Given the description of an element on the screen output the (x, y) to click on. 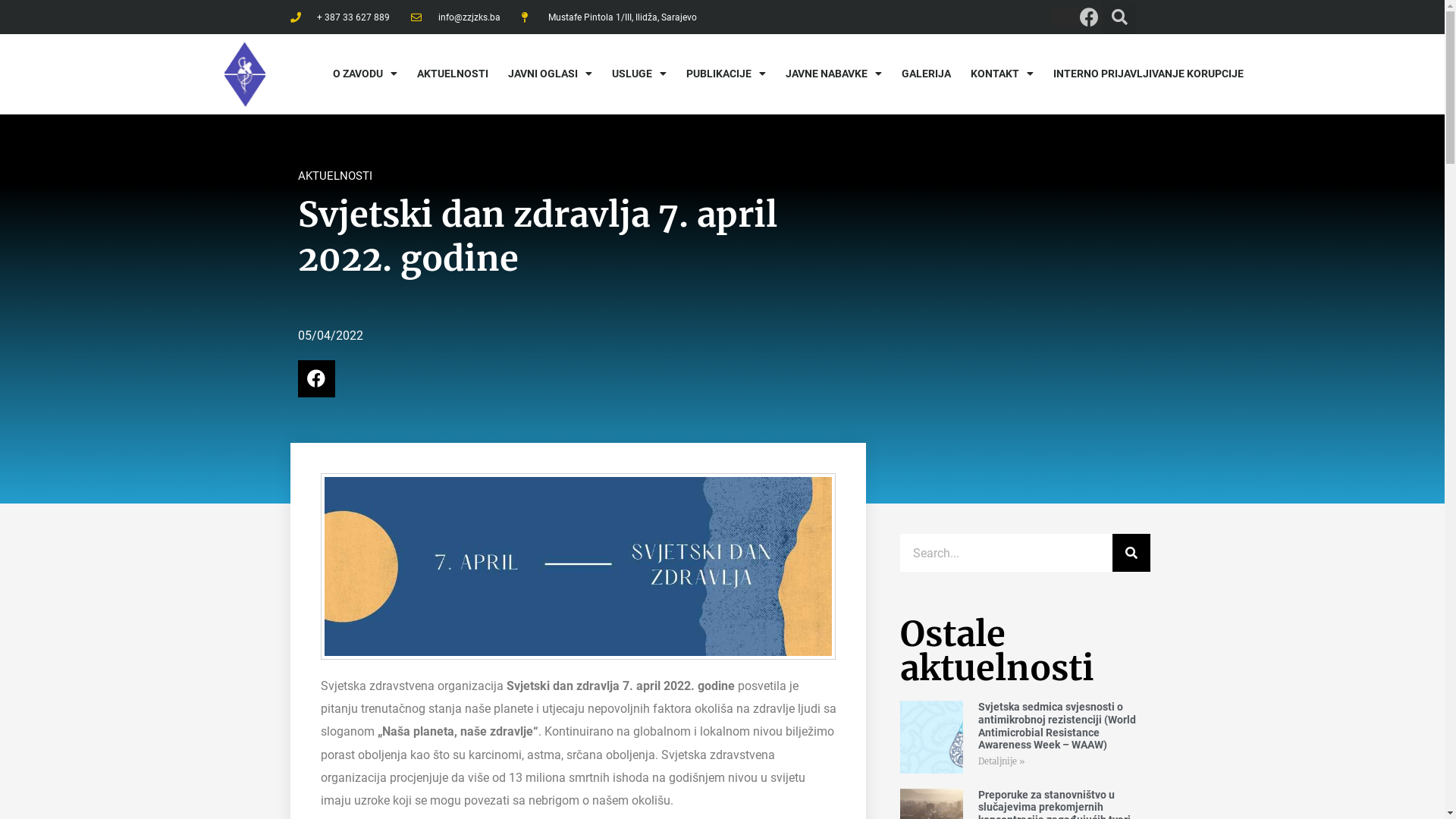
05/04/2022 Element type: text (329, 335)
INTERNO PRIJAVLJIVANJE KORUPCIJE Element type: text (1148, 73)
JAVNE NABAVKE Element type: text (833, 73)
O ZAVODU Element type: text (365, 73)
AKTUELNOSTI Element type: text (451, 73)
GALERIJA Element type: text (925, 73)
KONTAKT Element type: text (1001, 73)
JAVNI OGLASI Element type: text (549, 73)
USLUGE Element type: text (639, 73)
PUBLIKACIJE Element type: text (725, 73)
